Given the description of an element on the screen output the (x, y) to click on. 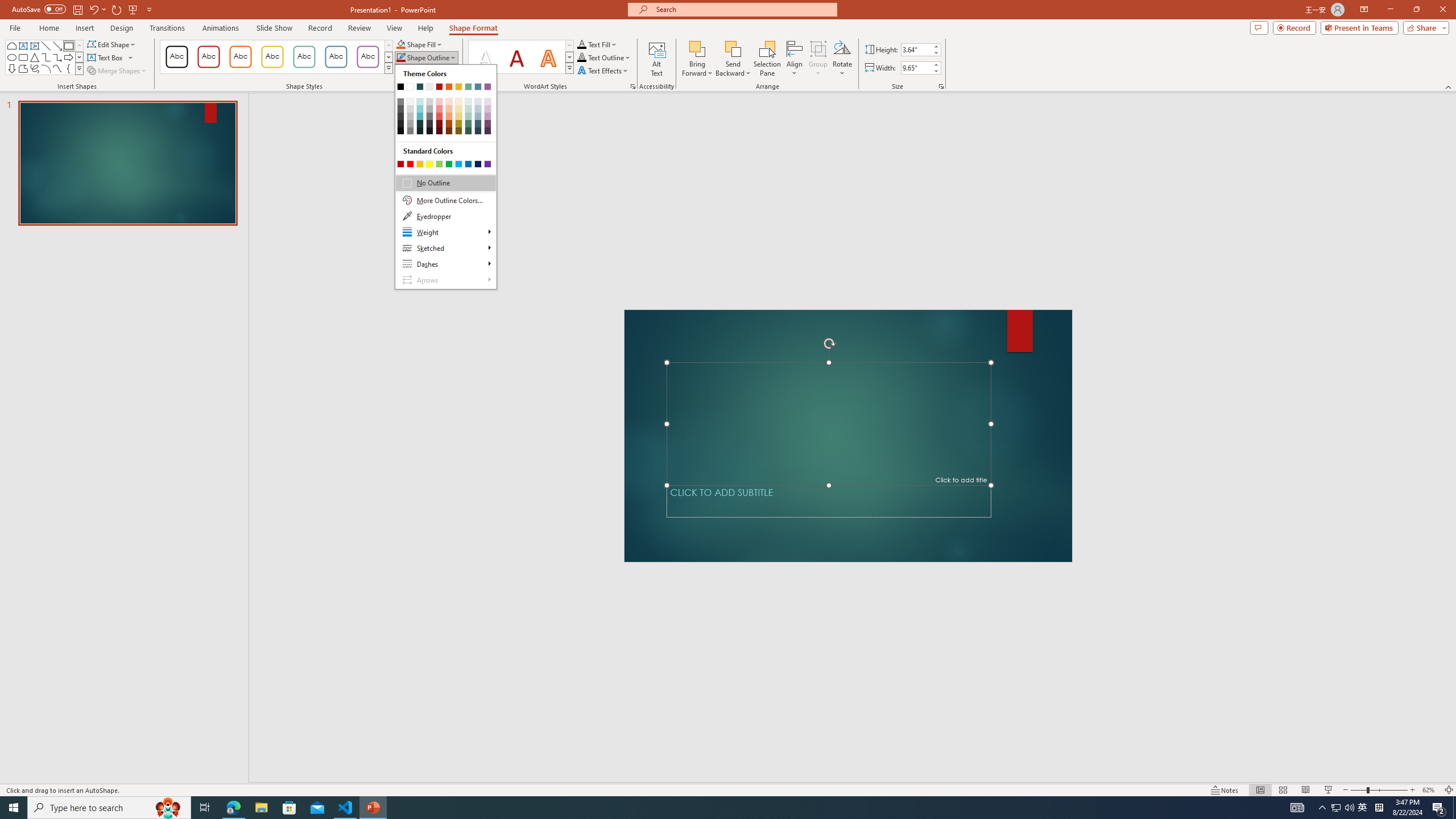
Text Effects (603, 69)
Merge Shapes (117, 69)
Draw Horizontal Text Box (105, 56)
Colored Outline - Gold, Accent 3 (272, 56)
Colored Outline - Purple, Accent 6 (368, 56)
Align (794, 58)
